Given the description of an element on the screen output the (x, y) to click on. 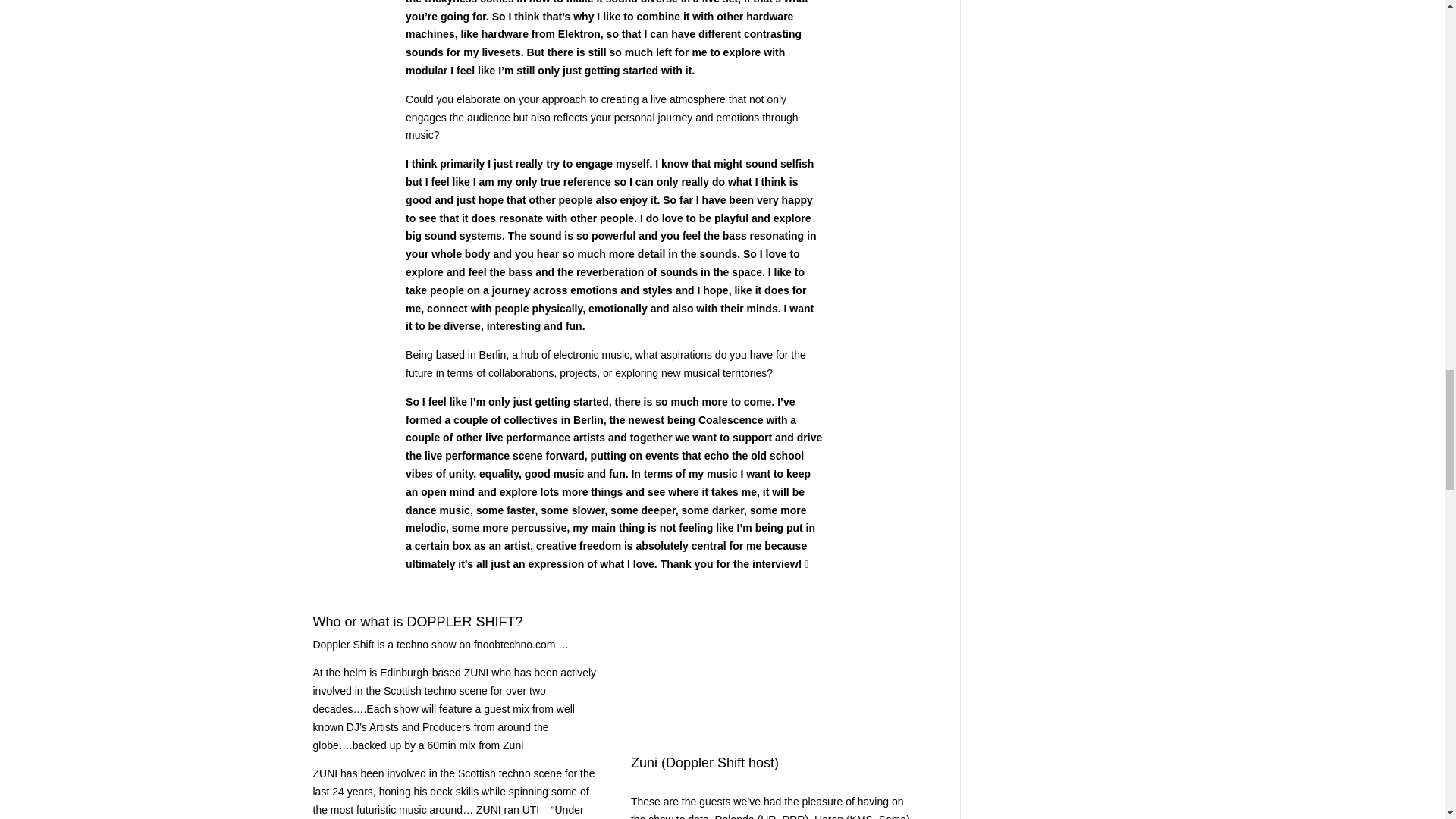
ZUNI (476, 672)
Page 1 (454, 727)
Page 1 (772, 806)
